Given the description of an element on the screen output the (x, y) to click on. 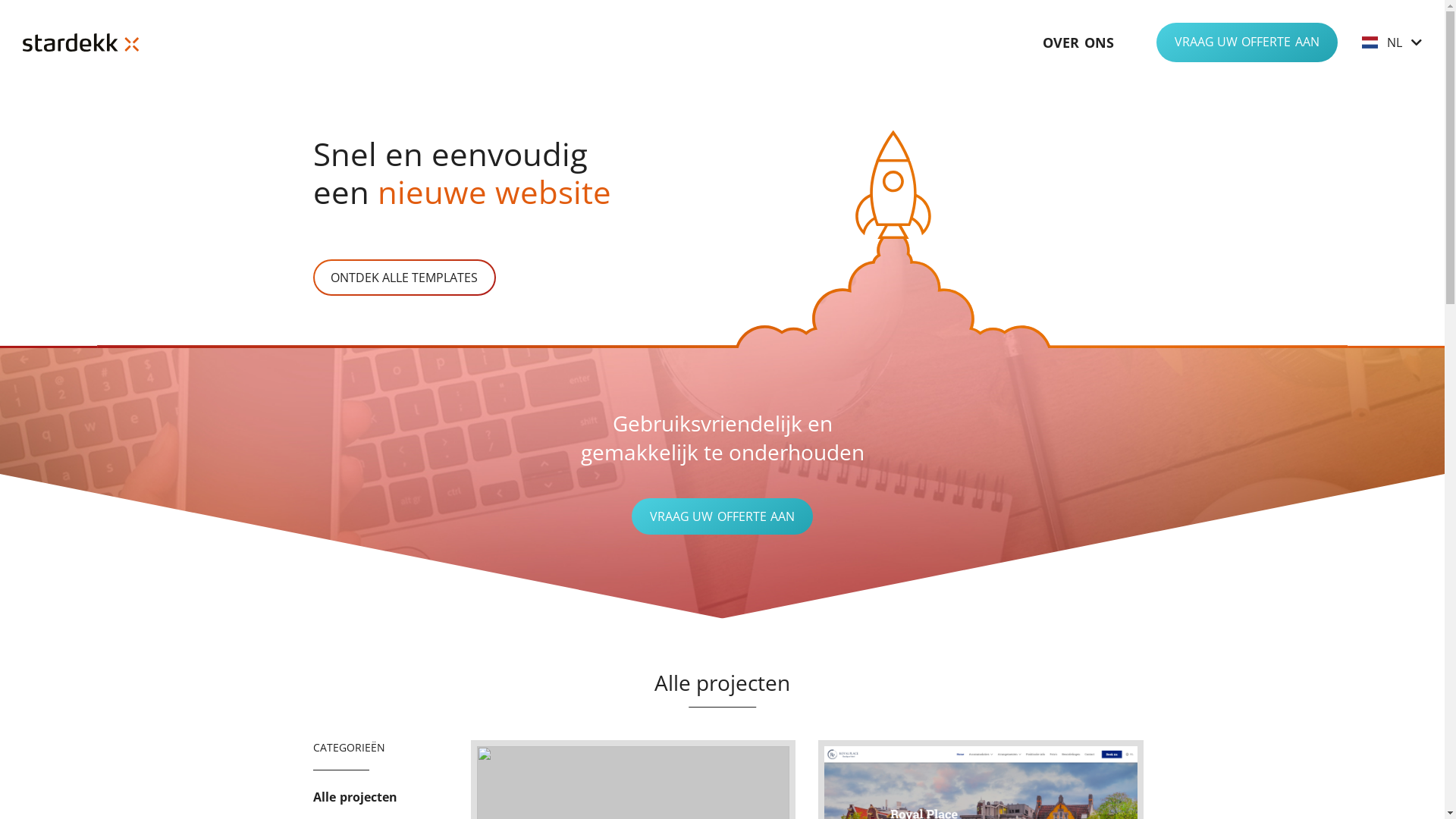
VRAAG UW OFFERTE AAN Element type: text (721, 516)
VRAAG UW OFFERTE AAN Element type: text (1246, 41)
ONTDEK ALLE TEMPLATES Element type: text (403, 277)
Alle projecten Element type: text (354, 796)
OVER ONS Element type: text (1077, 42)
